Given the description of an element on the screen output the (x, y) to click on. 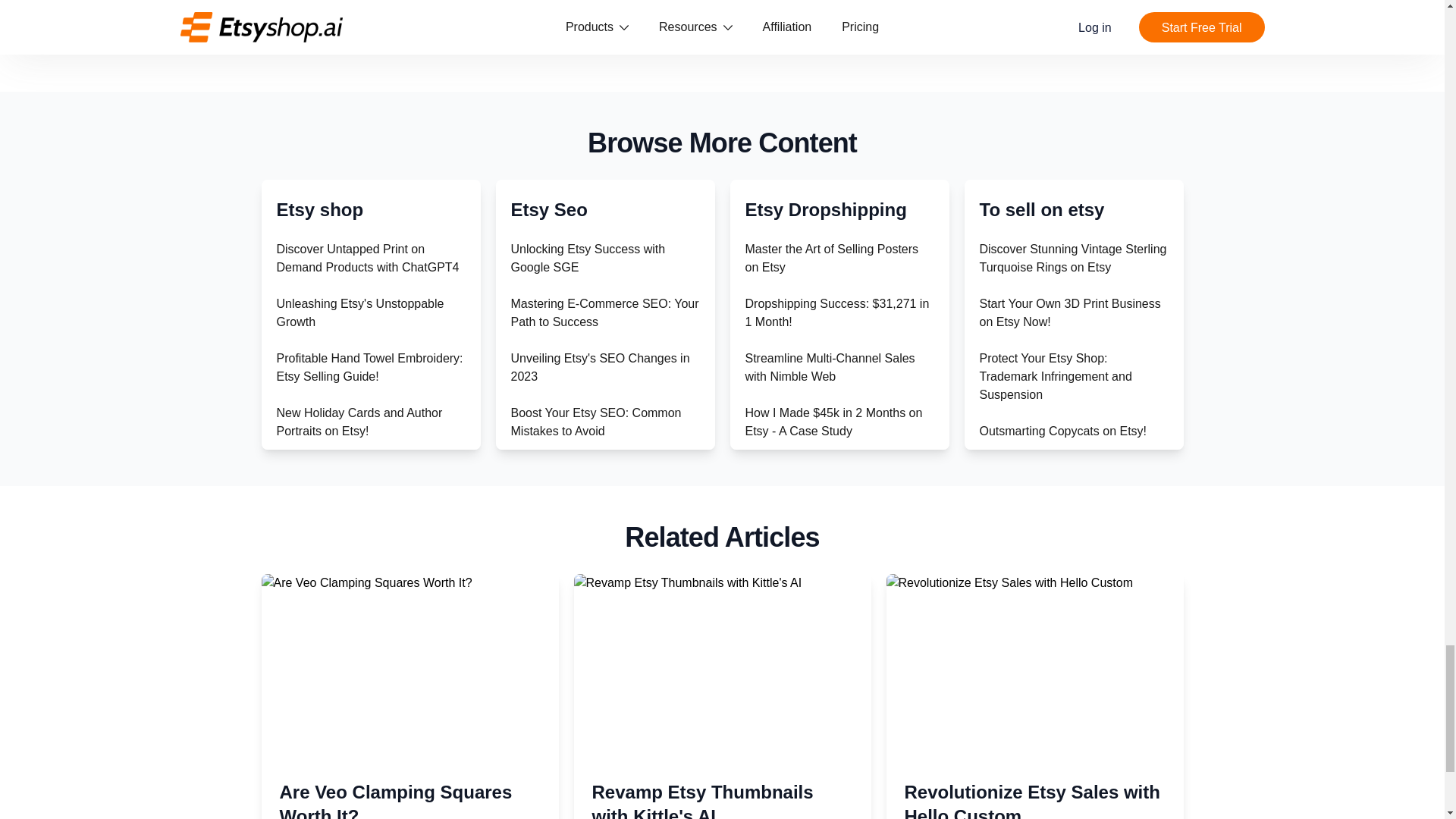
Unleashing Etsy's Unstoppable Growth (360, 312)
Mastering E-Commerce SEO: Your Path to Success (604, 312)
New Holiday Cards and Author Portraits on Etsy! (359, 421)
Maximizing Marmalade for Etsy SEO Success (595, 694)
Unbridled Etsy Battles: KingCobraJFS vs the World (350, 585)
Boost Your Etsy SEO: Common Mistakes to Avoid (596, 421)
ETSY STAR SELLER Secrets Revealed (356, 476)
Unlocking Etsy Success with Google SGE (588, 257)
Unboxing Beautiful Orchids from Etsy's Triton Orchids (362, 640)
Unveiling Etsy's SEO Changes in 2023 (600, 367)
Profitable Hand Towel Embroidery: Etsy Selling Guide! (369, 367)
Boost Your Etsy SEO in 2023 (589, 739)
Master the Art of Selling Posters on Etsy (831, 257)
Discover Untapped Print on Demand Products with ChatGPT4 (367, 257)
Exciting Update: My First Plushie Arrived! - Business Vlog (365, 531)
